Given the description of an element on the screen output the (x, y) to click on. 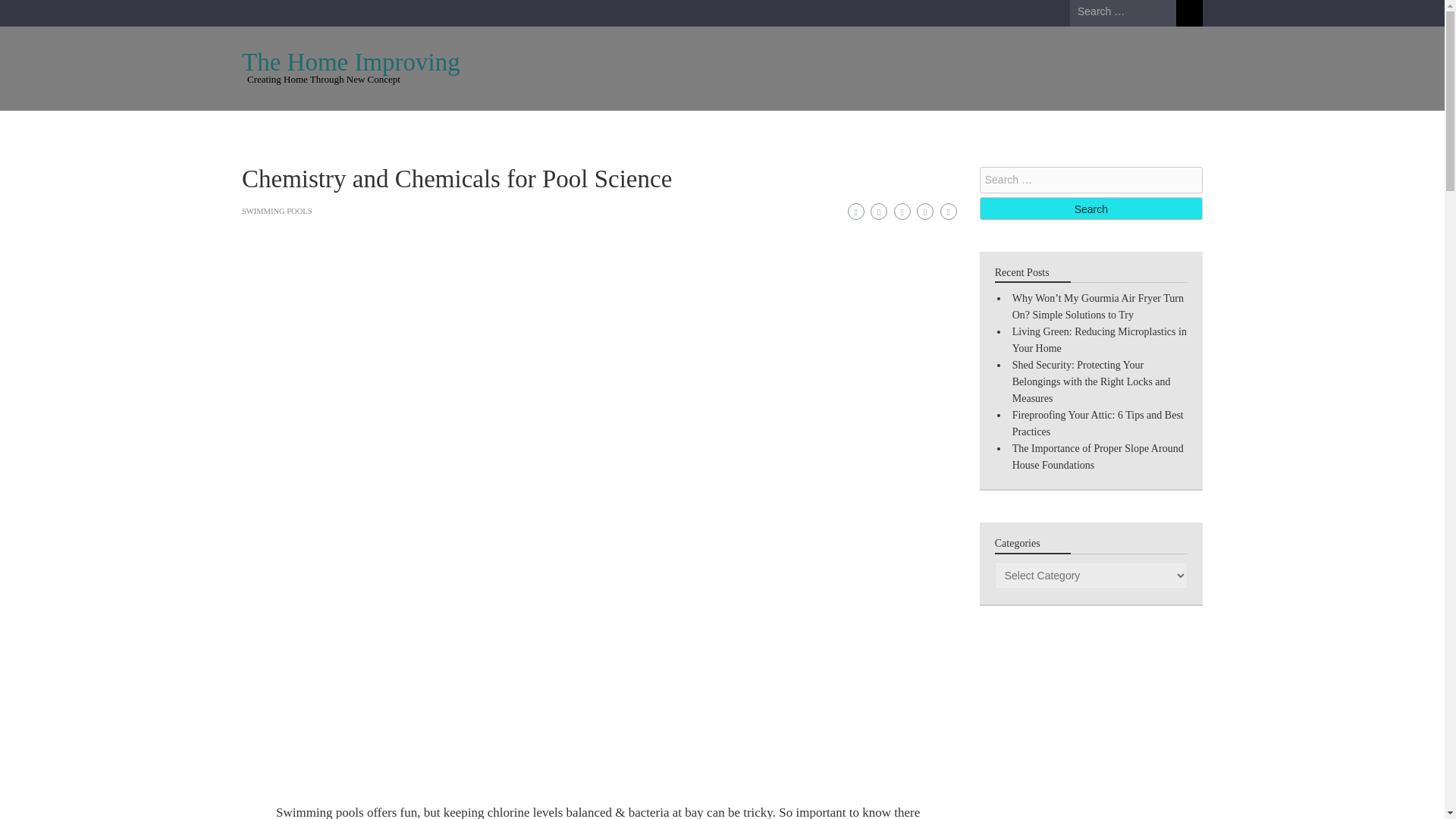
Search for: (1090, 180)
Kitchen (531, 129)
Smart Home (938, 129)
Interiors (856, 129)
Search (1189, 13)
SWIMMING POOLS (276, 211)
Exteriors (782, 129)
Search for: (1123, 11)
DIY (595, 129)
Search (1189, 13)
